Given the description of an element on the screen output the (x, y) to click on. 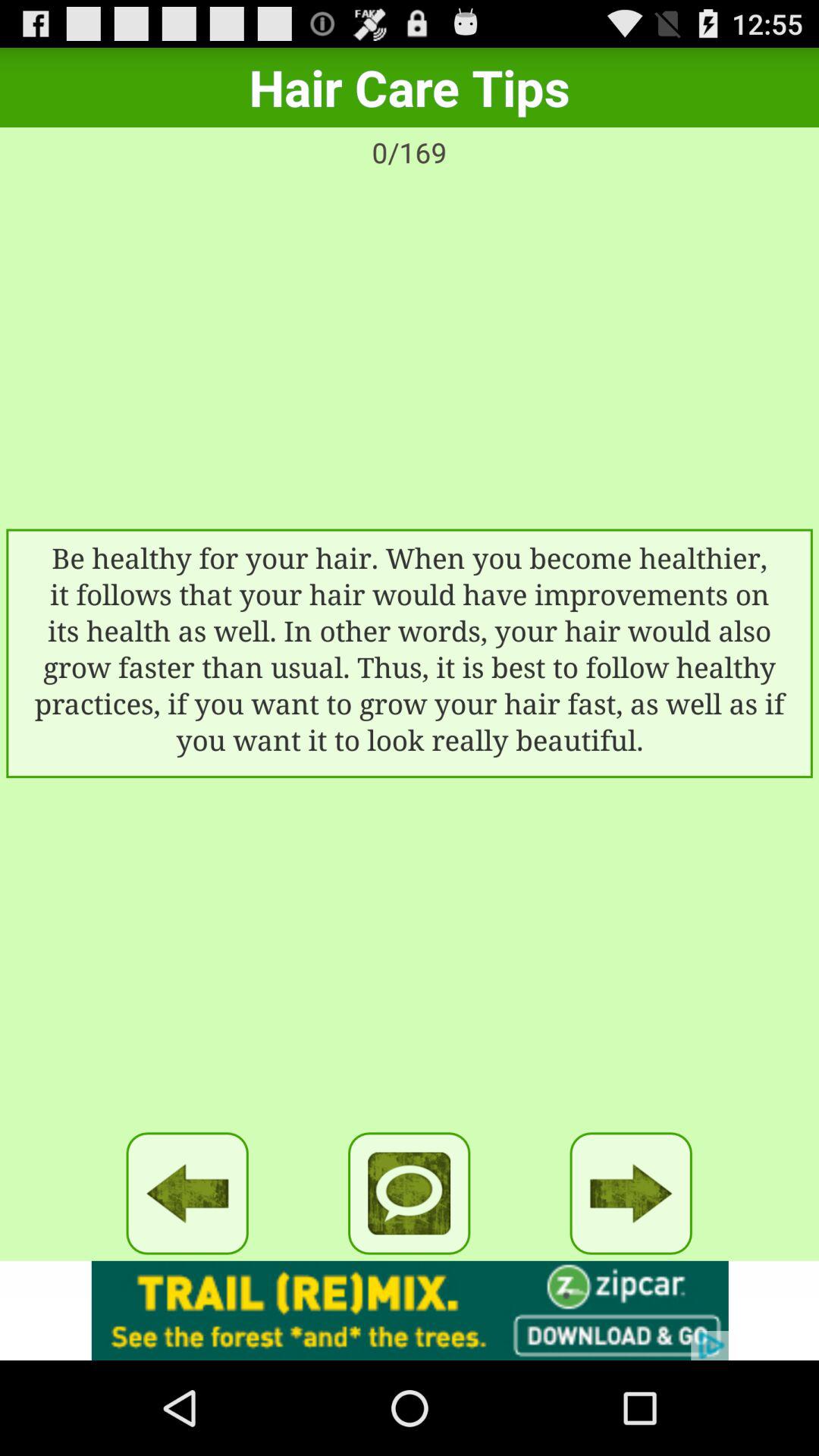
next button (630, 1193)
